Given the description of an element on the screen output the (x, y) to click on. 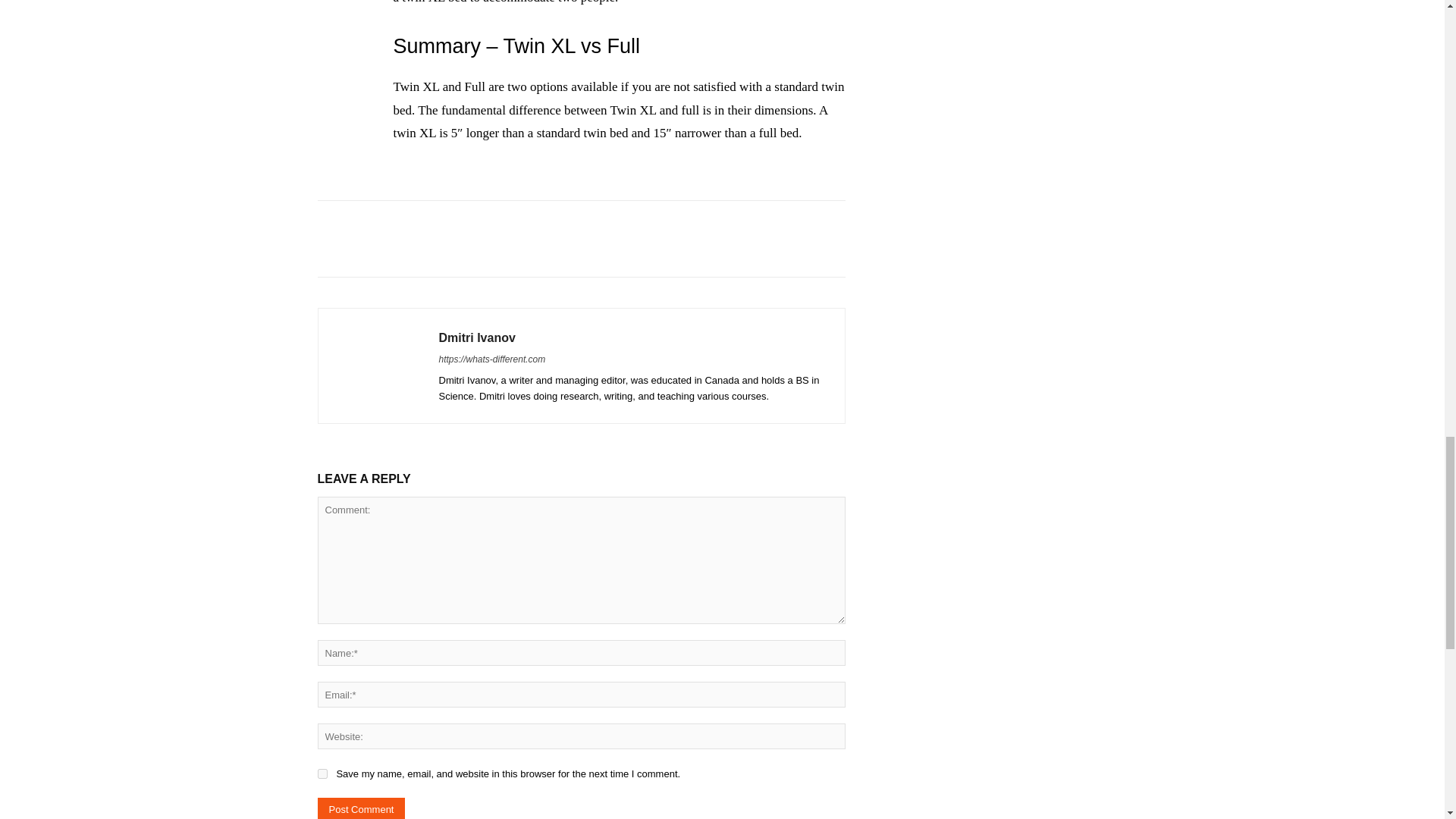
Post Comment (360, 808)
yes (321, 773)
Dmitri Ivanov (377, 365)
